Given the description of an element on the screen output the (x, y) to click on. 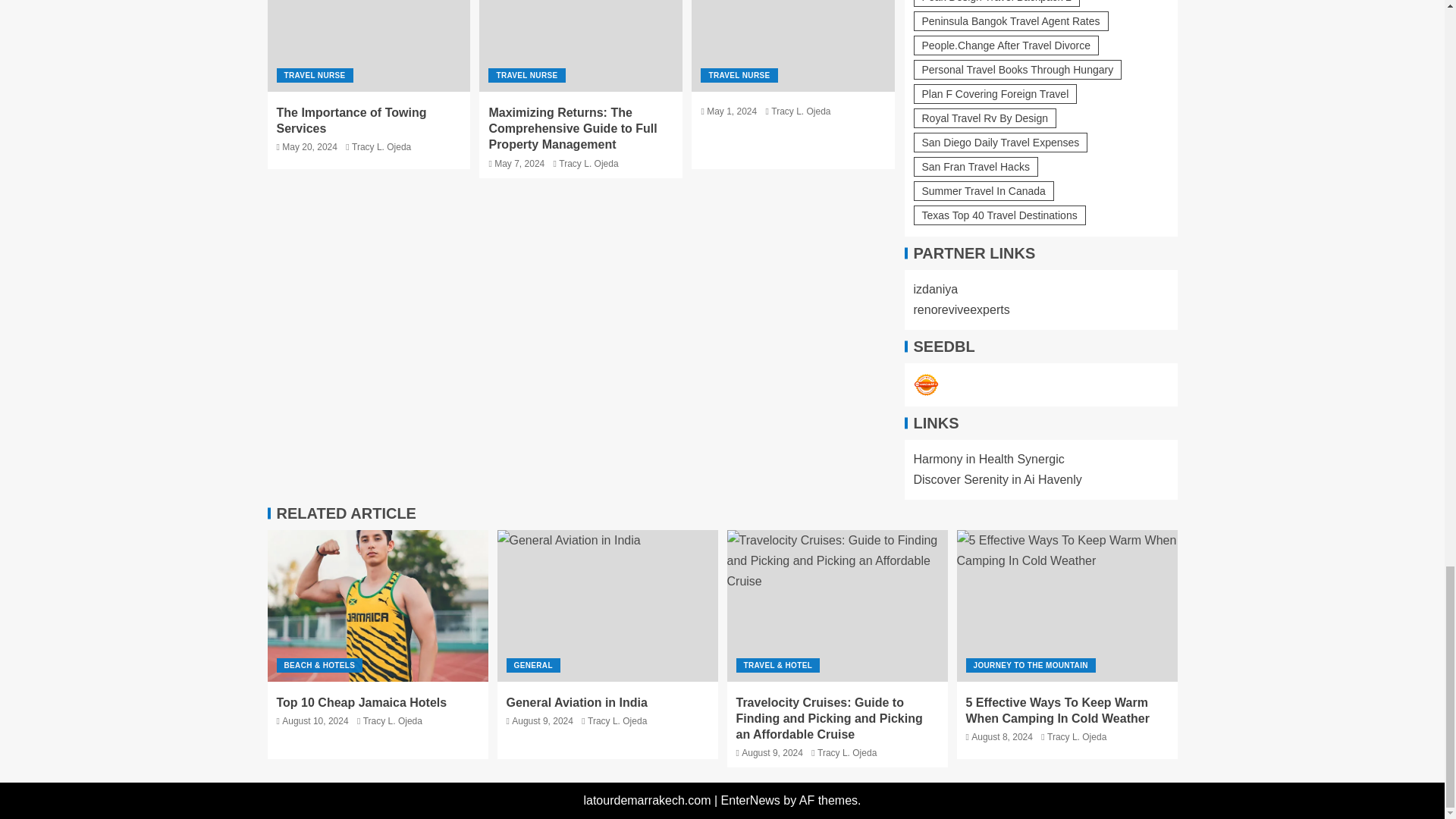
5 Effective Ways To Keep Warm When Camping In Cold Weather (1066, 605)
General Aviation in India (607, 605)
Seedbacklink (925, 385)
Top 10 Cheap Jamaica Hotels (376, 605)
